Given the description of an element on the screen output the (x, y) to click on. 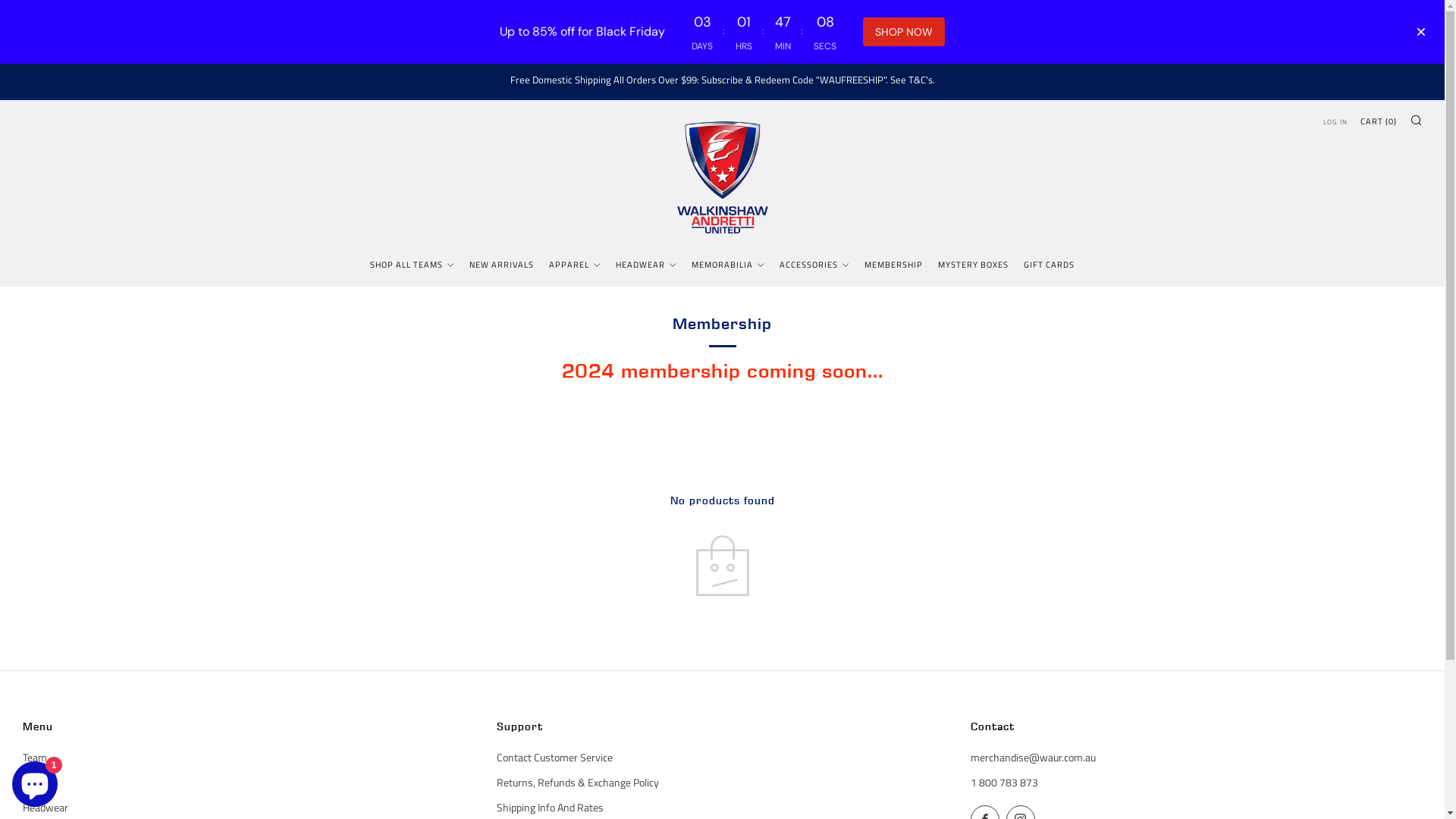
MEMBERSHIP Element type: text (893, 264)
Contact Customer Service Element type: text (554, 757)
NEW ARRIVALS Element type: text (501, 264)
merchandise@waur.com.au Element type: text (1032, 757)
ACCESSORIES Element type: text (814, 264)
MEMORABILIA Element type: text (727, 264)
APPAREL Element type: text (574, 264)
SHOP ALL TEAMS Element type: text (412, 264)
Team Element type: text (34, 757)
SHOP NOW Element type: text (903, 31)
1 800 783 873 Element type: text (1004, 782)
Shopify online store chat Element type: hover (34, 780)
Headwear Element type: text (45, 807)
Apparel Element type: text (39, 782)
CART (0) Element type: text (1378, 121)
GIFT CARDS Element type: text (1048, 264)
HEADWEAR Element type: text (645, 264)
SEARCH Element type: text (1415, 119)
Shipping Info And Rates Element type: text (549, 807)
Returns, Refunds & Exchange Policy Element type: text (577, 782)
LOG IN Element type: text (1335, 121)
MYSTERY BOXES Element type: text (973, 264)
